Given the description of an element on the screen output the (x, y) to click on. 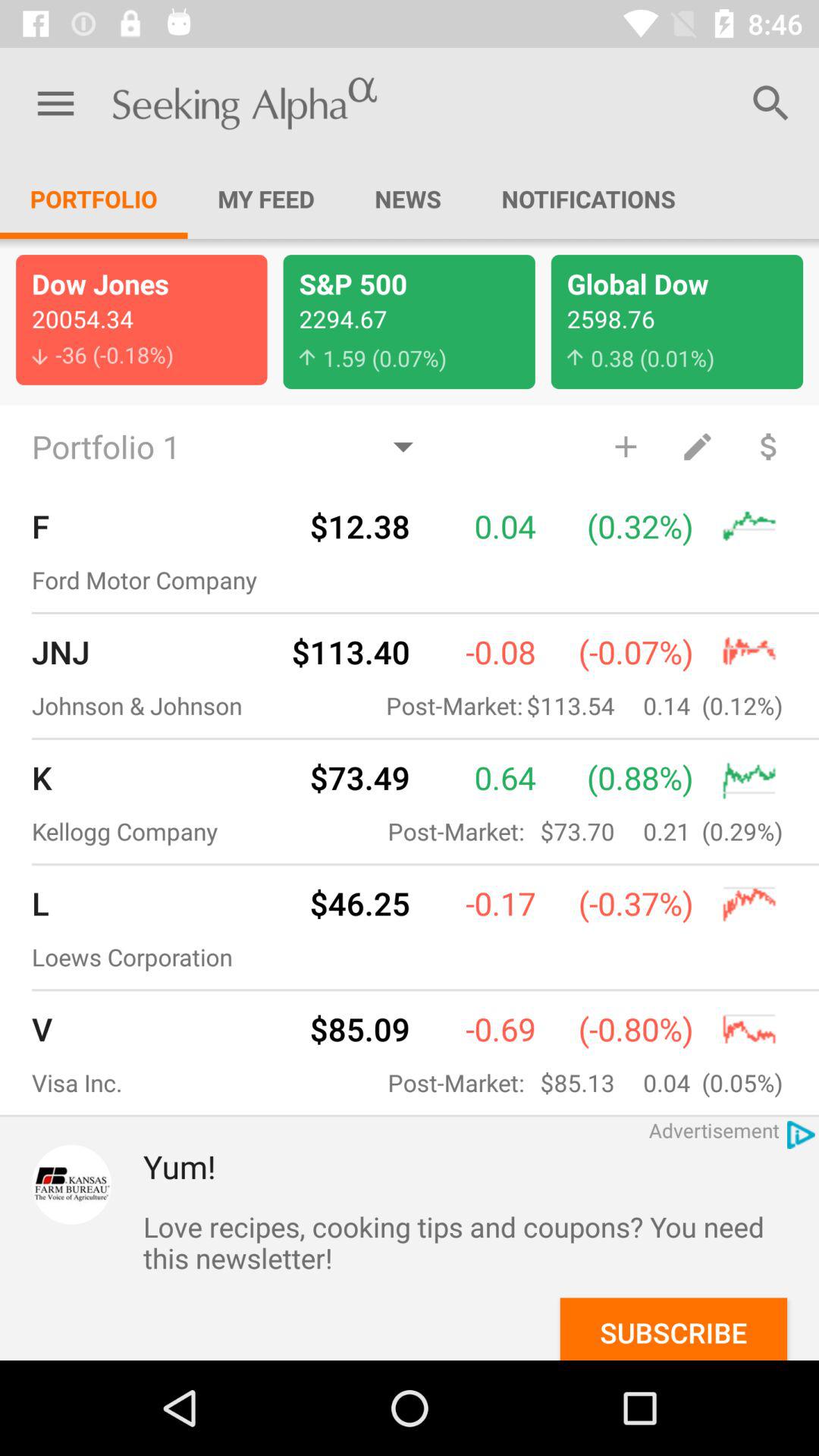
click the item below love recipes cooking icon (673, 1328)
